Given the description of an element on the screen output the (x, y) to click on. 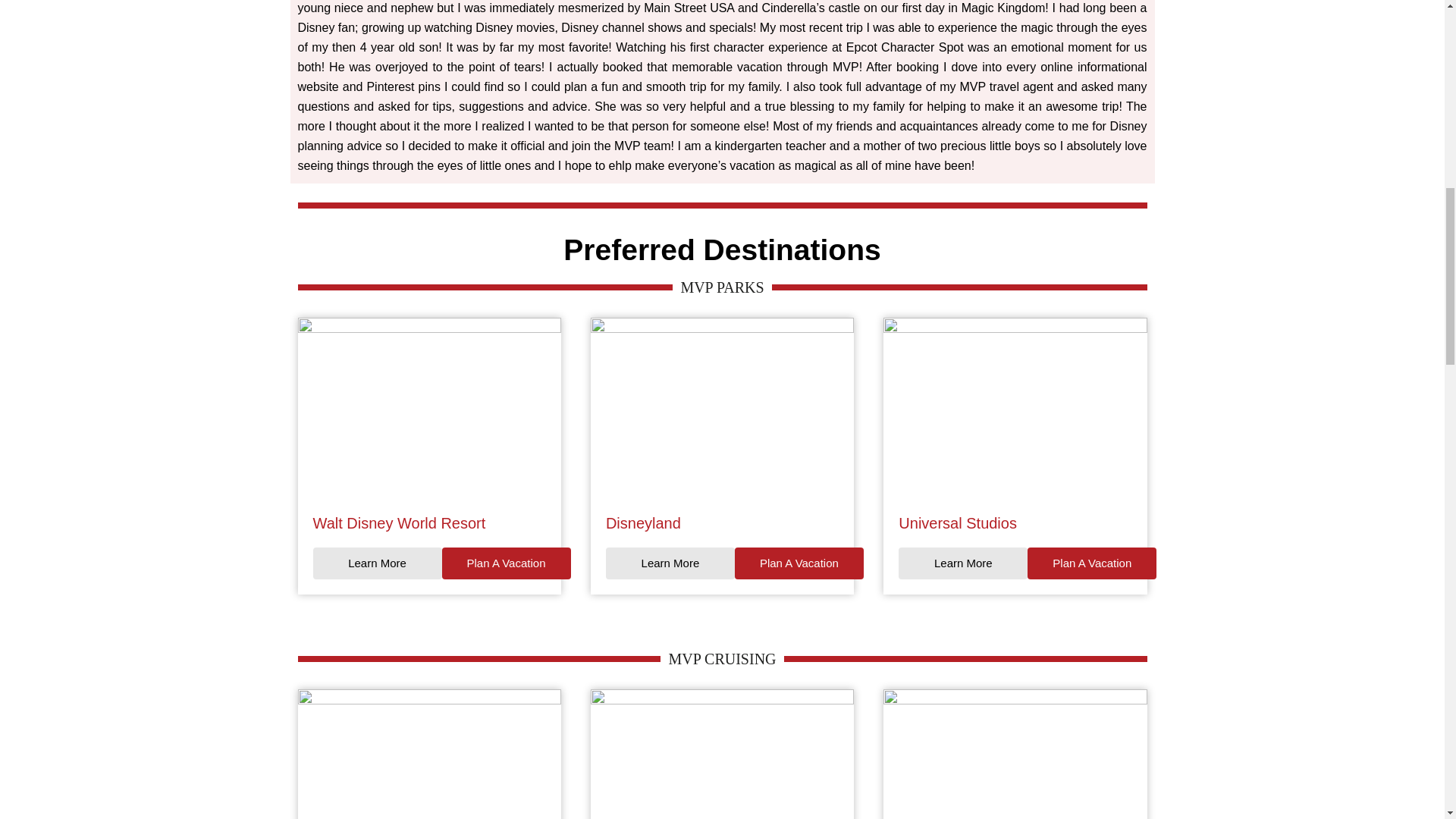
Learn More (377, 563)
Walt Disney World Resort (398, 522)
Cinderella's Castle Magic Kingdom Park (428, 407)
Plan A Vacation (799, 563)
Disneyland (643, 522)
Universal Studios (957, 522)
Learn More (962, 563)
Learn More (670, 563)
Plan A Vacation (505, 563)
Plan A Vacation (1091, 563)
